Given the description of an element on the screen output the (x, y) to click on. 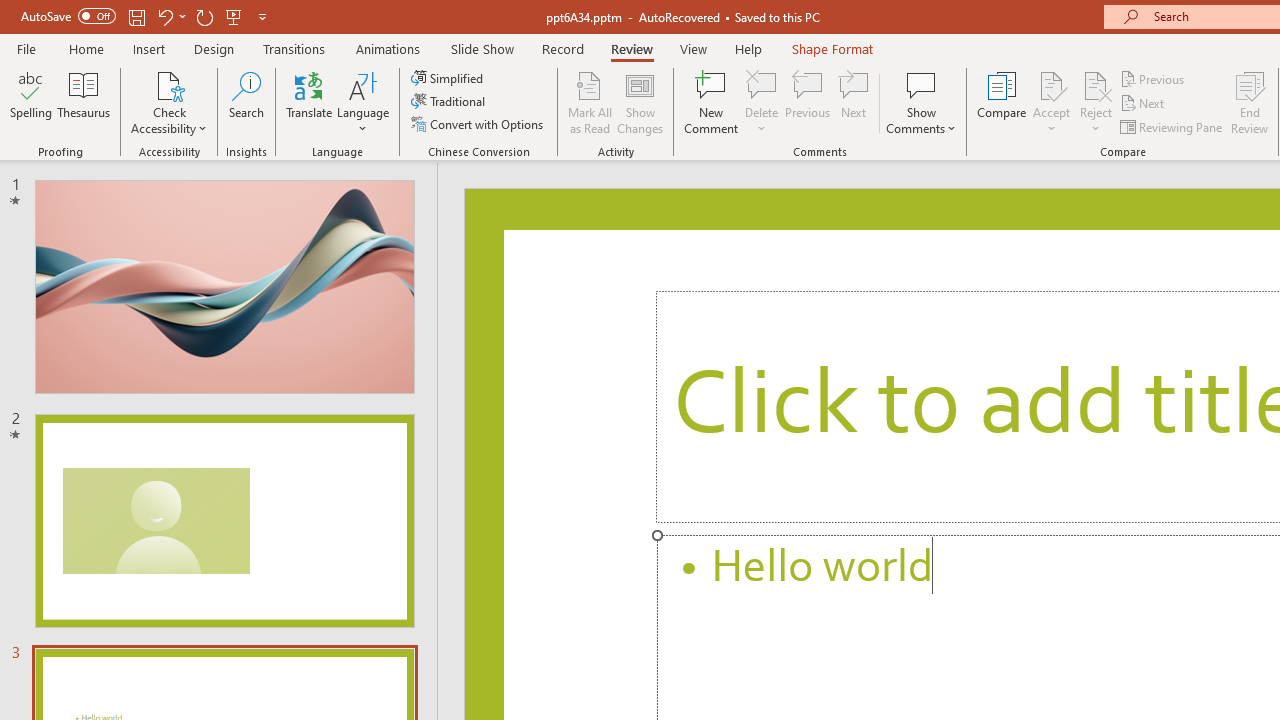
Save (136, 15)
Shape Format (832, 48)
Review (631, 48)
Mark All as Read (589, 102)
Slide Show (481, 48)
Next (1144, 103)
Reject (1096, 102)
System (10, 11)
Delete (762, 102)
Animations (388, 48)
Compare (1002, 102)
Translate (309, 102)
View (693, 48)
Record (562, 48)
Search (246, 102)
